Given the description of an element on the screen output the (x, y) to click on. 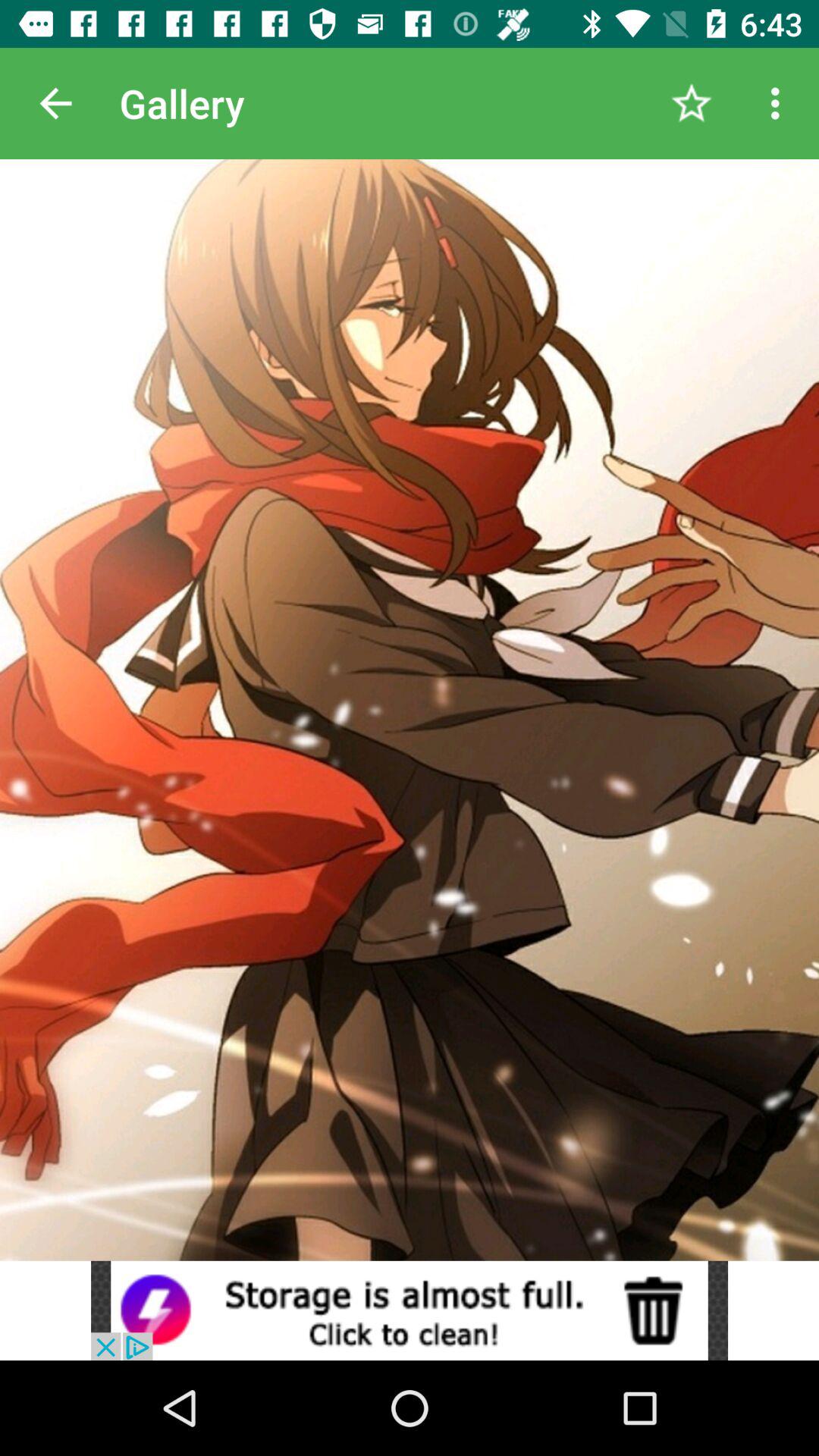
click the advertisement (409, 1310)
